Given the description of an element on the screen output the (x, y) to click on. 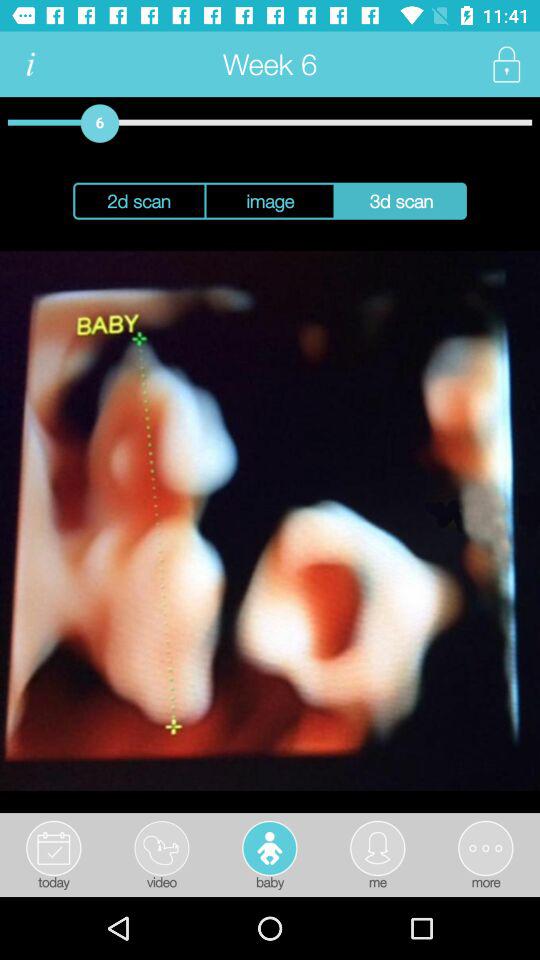
information icon (30, 63)
